Given the description of an element on the screen output the (x, y) to click on. 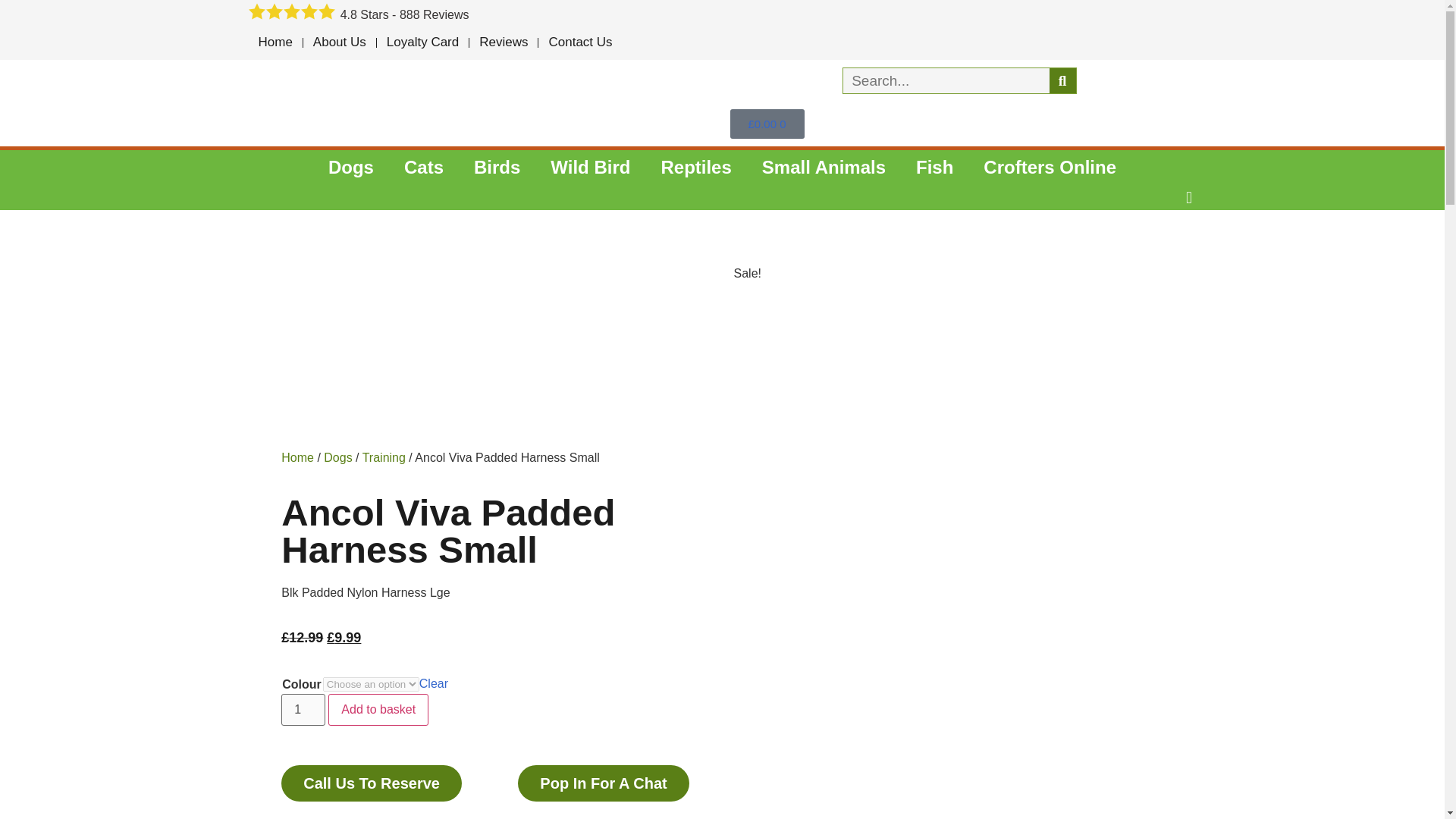
Dogs (350, 167)
Loyalty Card (422, 42)
Contact Us (579, 42)
Home (275, 42)
1 (302, 709)
Reviews (502, 42)
About Us (338, 42)
